Given the description of an element on the screen output the (x, y) to click on. 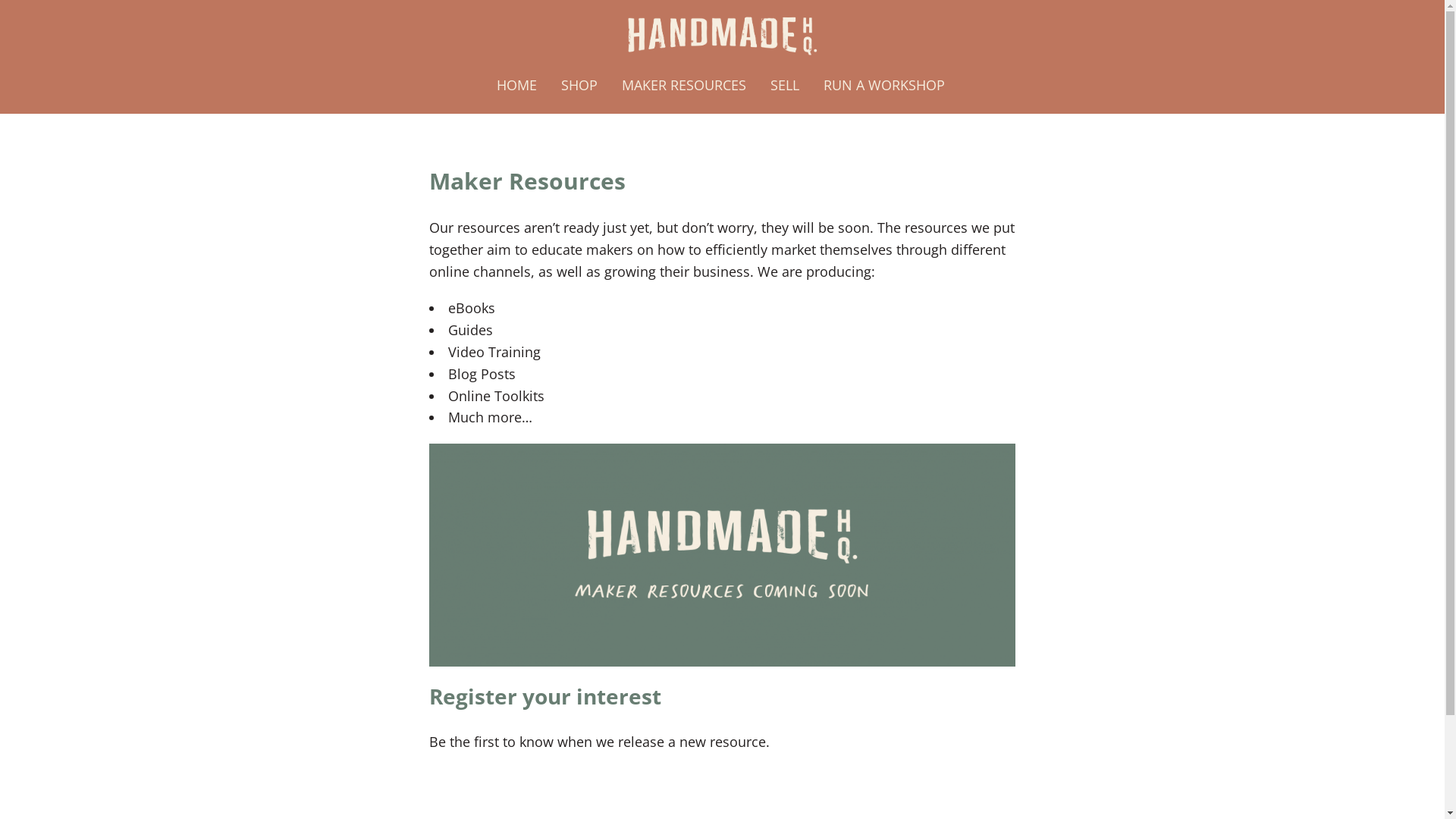
HOME Element type: text (516, 84)
SELL Element type: text (784, 84)
SHOP Element type: text (579, 84)
MAKER RESOURCES Element type: text (683, 84)
RUN A WORKSHOP Element type: text (884, 84)
